Given the description of an element on the screen output the (x, y) to click on. 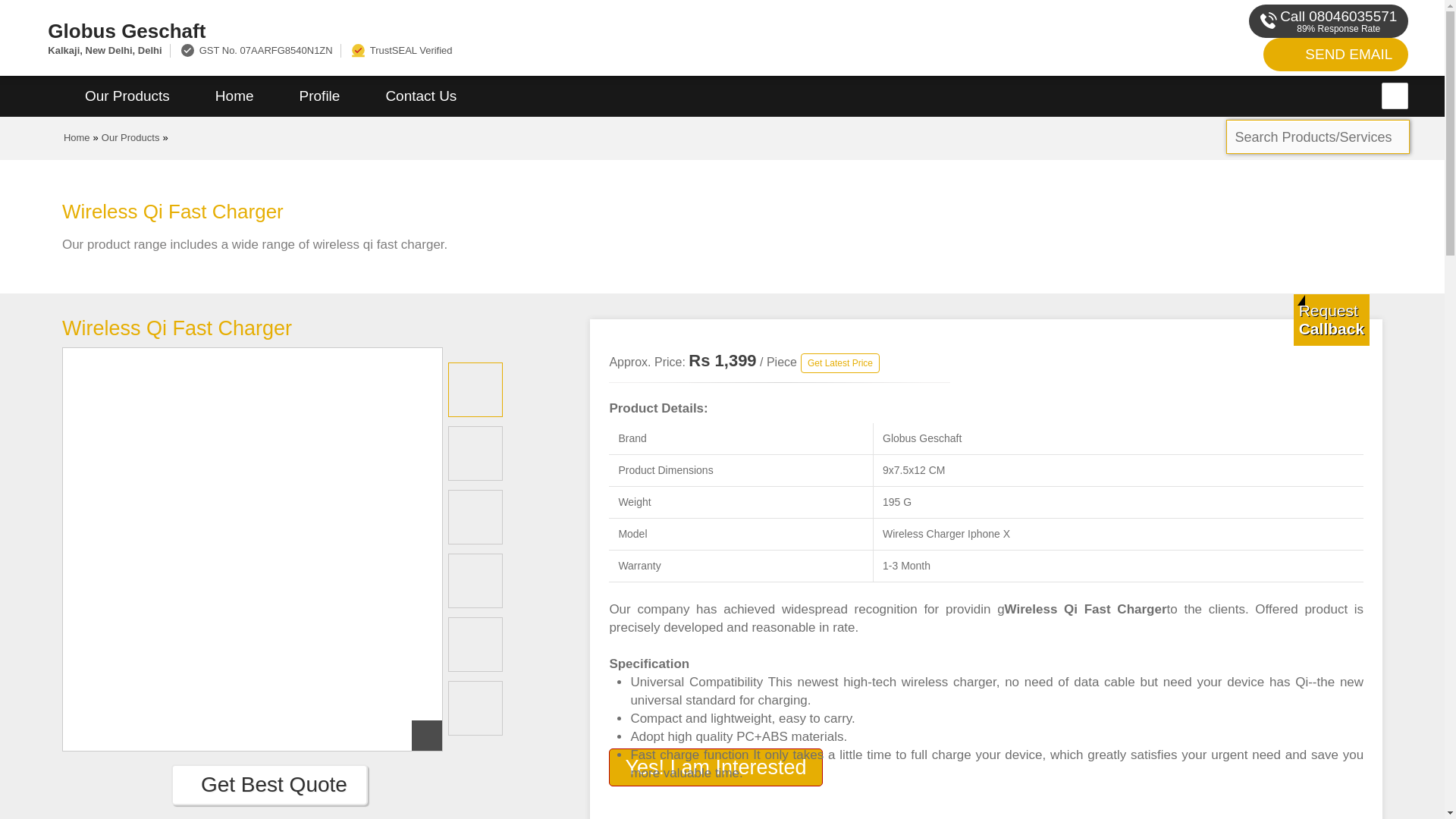
Globus Geschaft (485, 31)
Our Products (127, 96)
Get a Call from us (1332, 319)
